Given the description of an element on the screen output the (x, y) to click on. 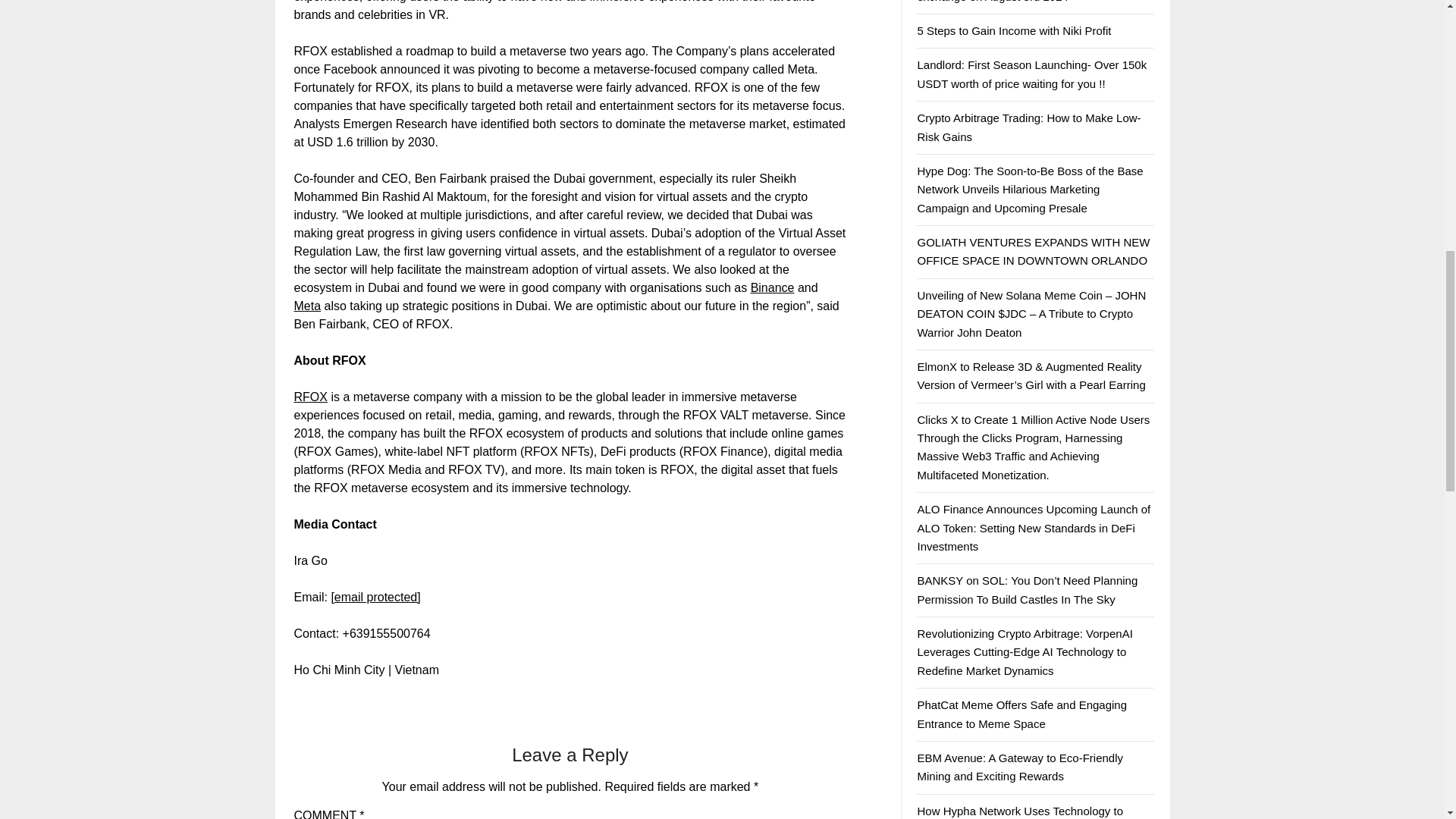
Crypto Arbitrage Trading: How to Make Low-Risk Gains (1028, 126)
PhatCat Meme Offers Safe and Engaging Entrance to Meme Space (1021, 713)
5 Steps to Gain Income with Niki Profit (1013, 30)
Meta (307, 305)
Binance (772, 287)
RFOX (310, 396)
